Given the description of an element on the screen output the (x, y) to click on. 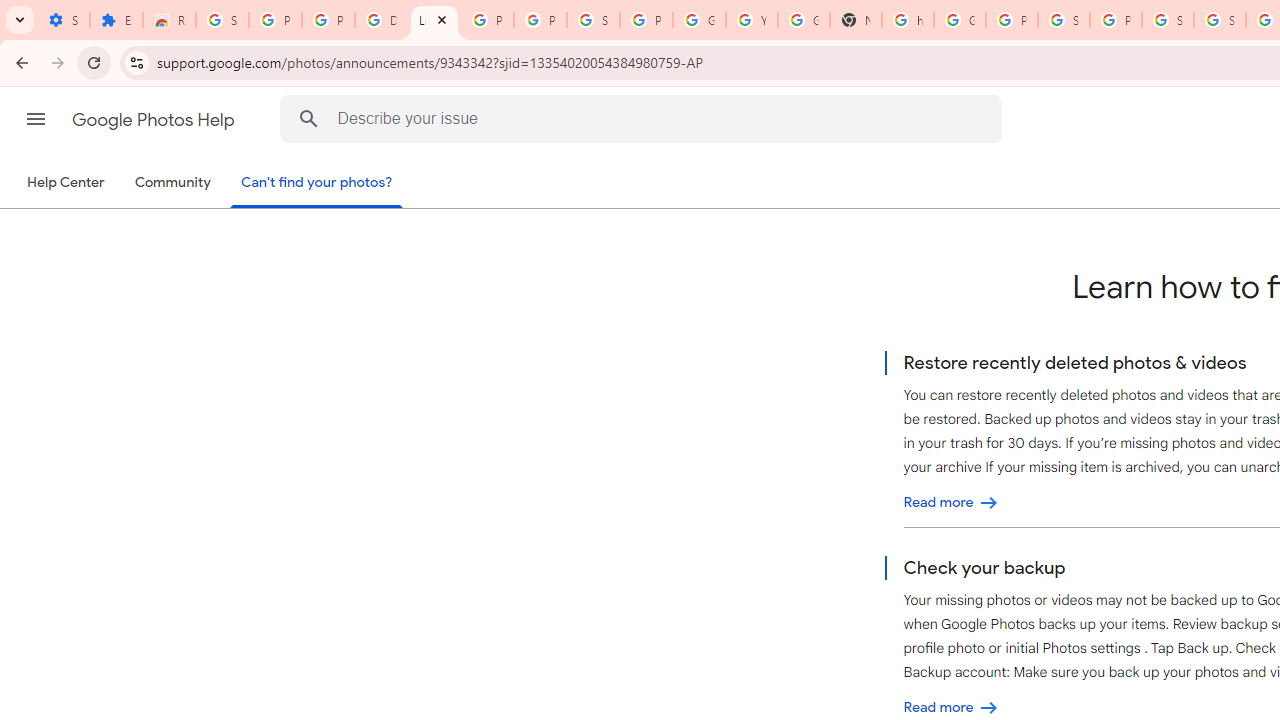
Sign in - Google Accounts (1219, 20)
Describe your issue (644, 118)
Google Photos Help (155, 119)
https://scholar.google.com/ (907, 20)
Can't find your photos? (317, 183)
Delete photos & videos - Computer - Google Photos Help (381, 20)
New Tab (855, 20)
Extensions (116, 20)
